Given the description of an element on the screen output the (x, y) to click on. 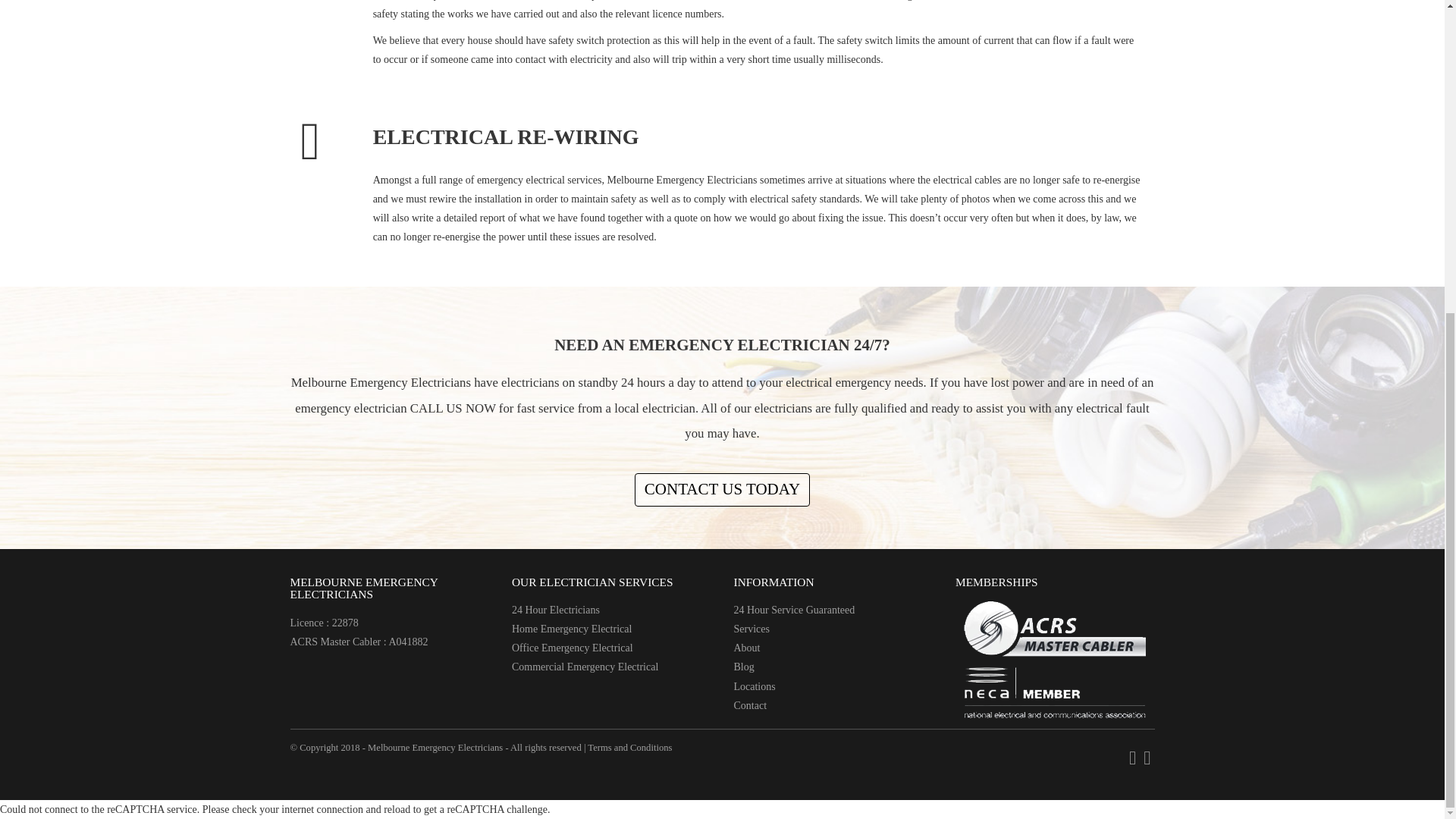
Commercial Emergency Electrical (585, 666)
About (746, 647)
Home Emergency Electrical (571, 628)
24 Hour Service Guaranteed (794, 609)
Home Emergency Electrical (571, 628)
CONTACT US TODAY (721, 489)
24 Hour Electricians (555, 609)
Contact (750, 705)
Office Emergency Electrical (572, 647)
Terms and Conditions (629, 747)
24 Hour Electricians (555, 609)
Blog (743, 666)
Commercial Emergency Electrical (585, 666)
About (746, 647)
Emergency Electrical Services (751, 628)
